Given the description of an element on the screen output the (x, y) to click on. 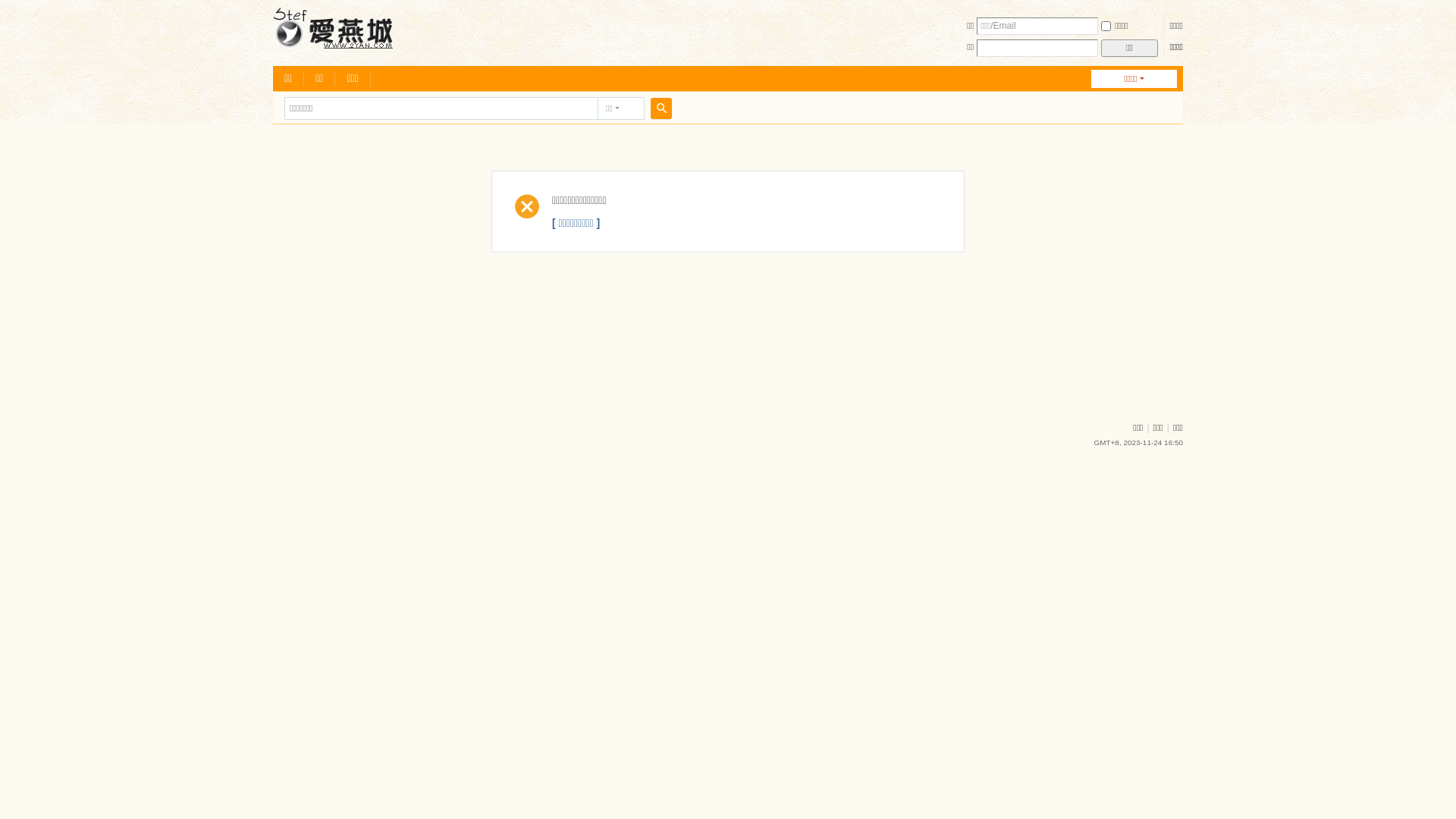
true Element type: text (660, 108)
